Given the description of an element on the screen output the (x, y) to click on. 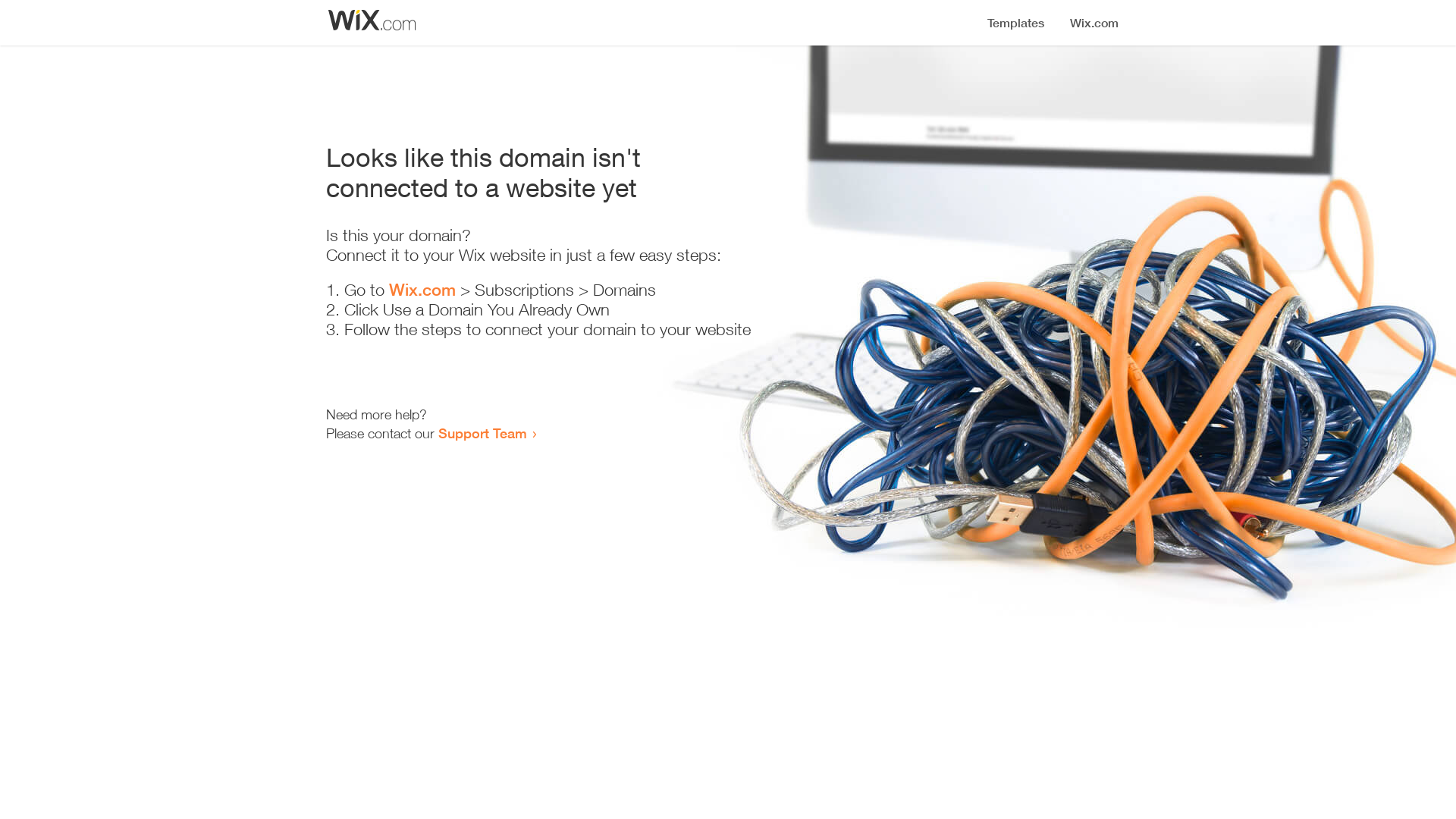
Wix.com Element type: text (422, 289)
Support Team Element type: text (482, 432)
